Given the description of an element on the screen output the (x, y) to click on. 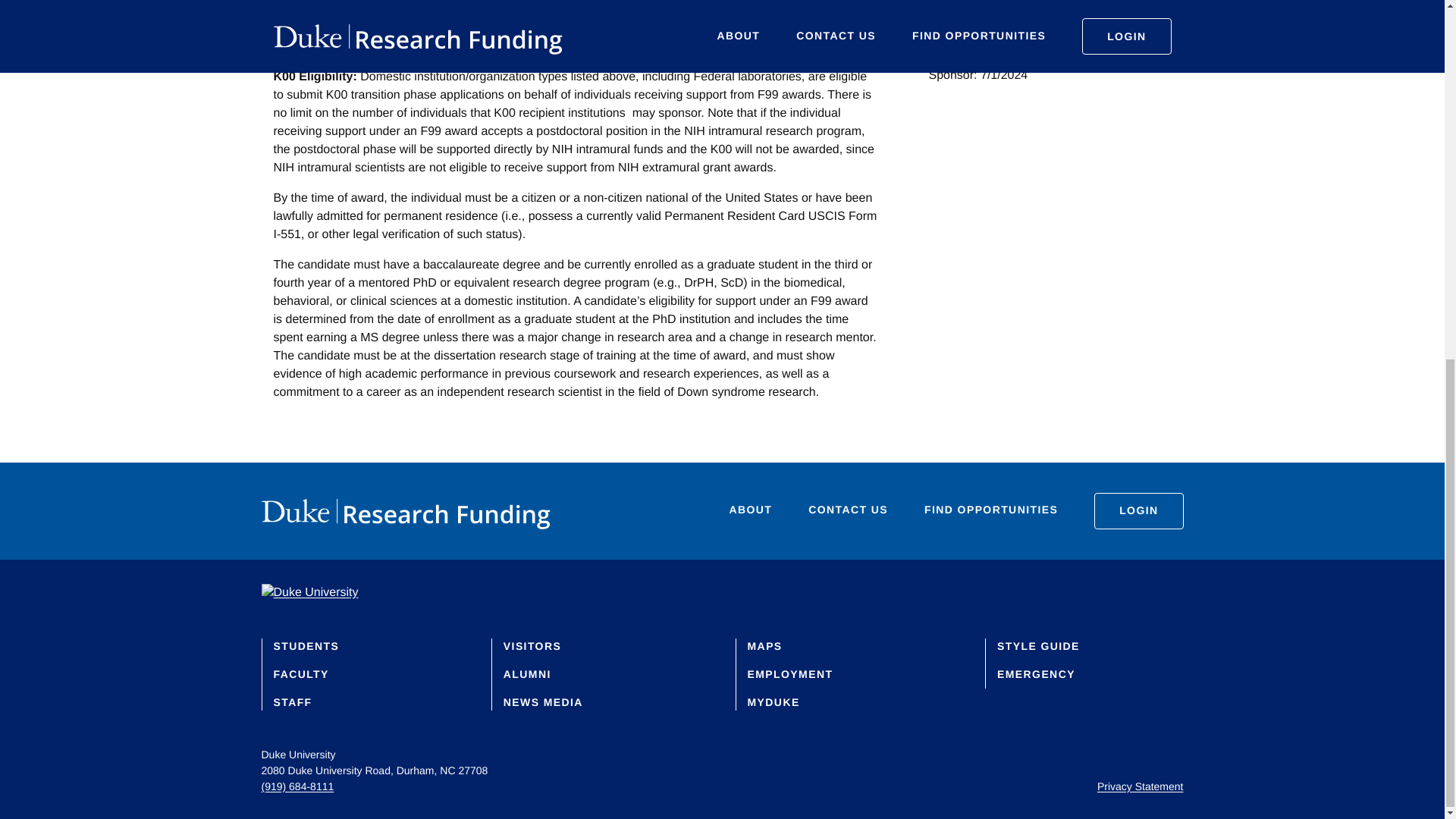
STYLE GUIDE (1038, 645)
MYDUKE (773, 702)
Privacy Statement (1140, 786)
FIND OPPORTUNITIES (991, 510)
LOGIN (1138, 511)
EMPLOYMENT (790, 674)
MAPS (765, 645)
EMERGENCY (1036, 674)
VISITORS (531, 645)
NEWS MEDIA (543, 702)
